Given the description of an element on the screen output the (x, y) to click on. 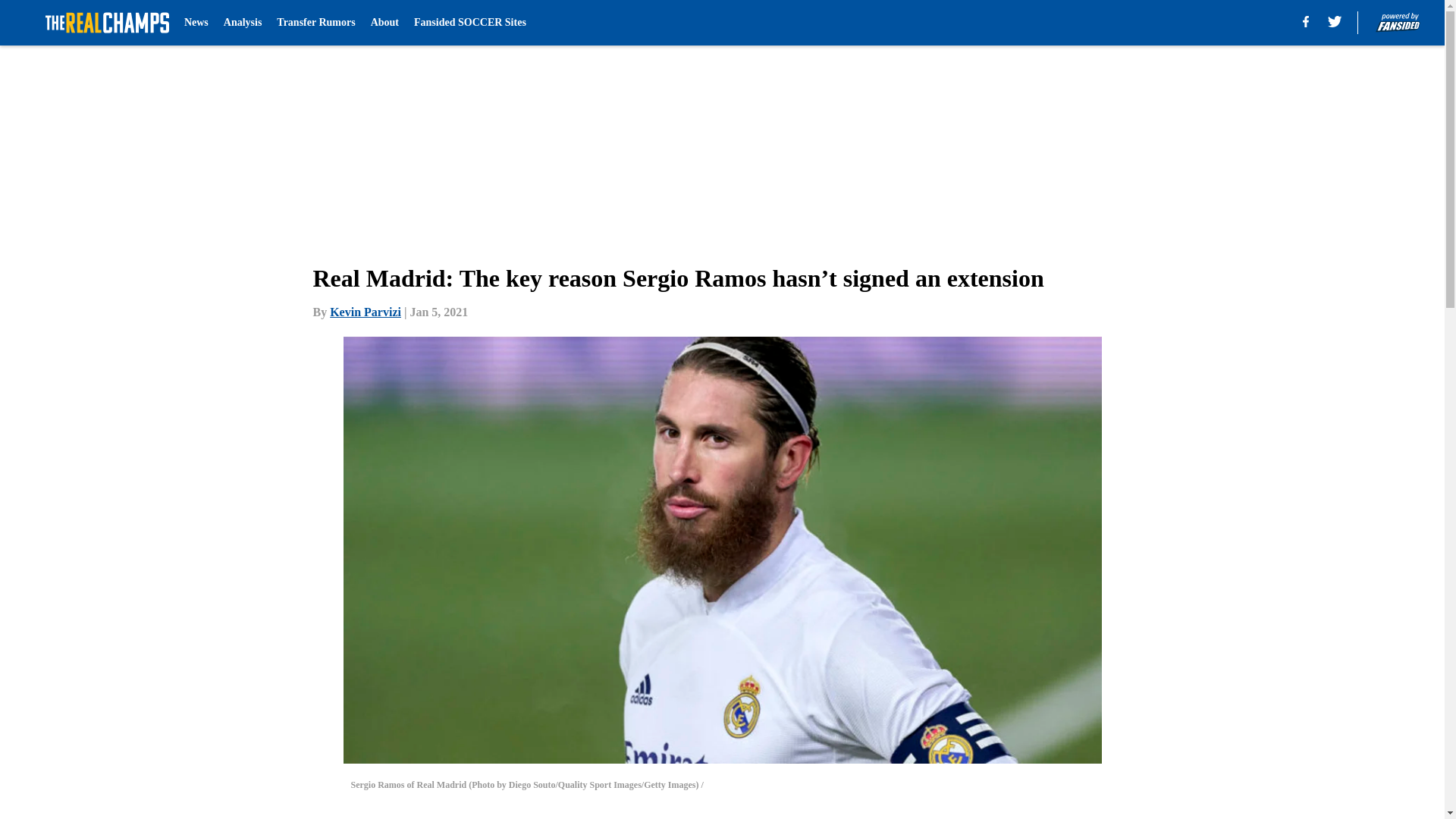
Analysis (243, 22)
Kevin Parvizi (365, 311)
Transfer Rumors (315, 22)
Fansided SOCCER Sites (469, 22)
About (384, 22)
News (196, 22)
